Given the description of an element on the screen output the (x, y) to click on. 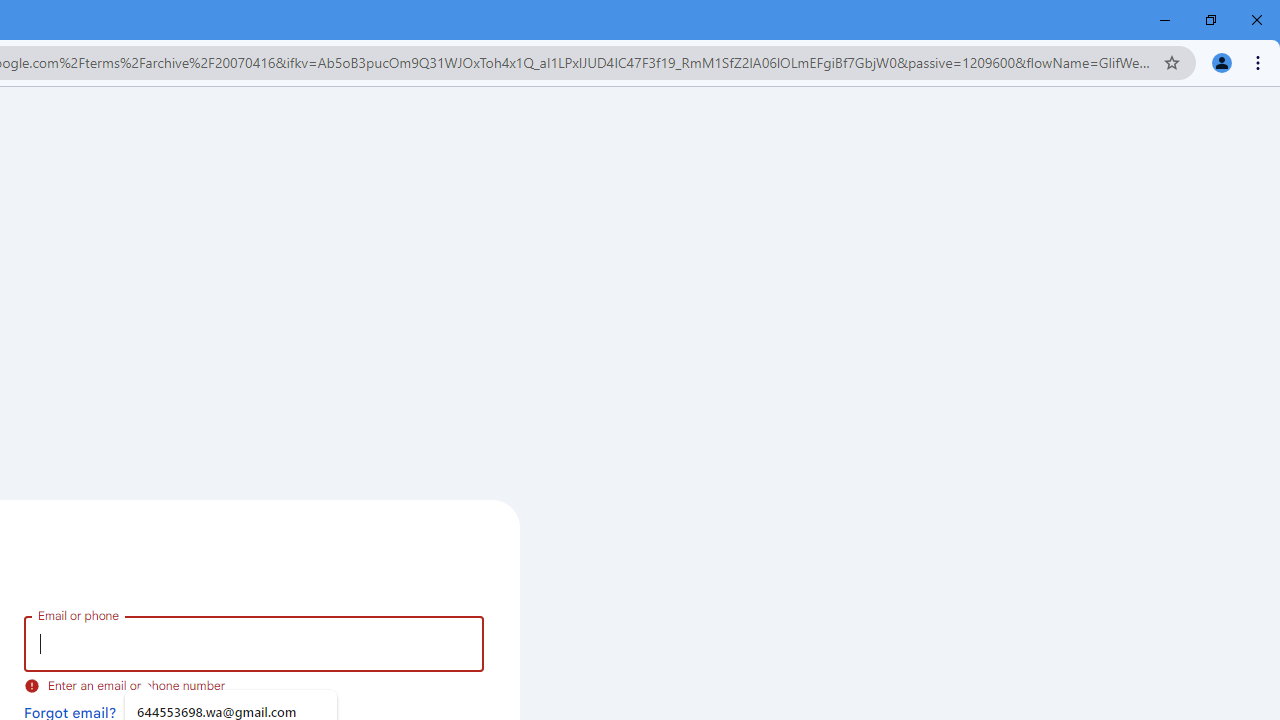
Email or phone (253, 643)
